Given the description of an element on the screen output the (x, y) to click on. 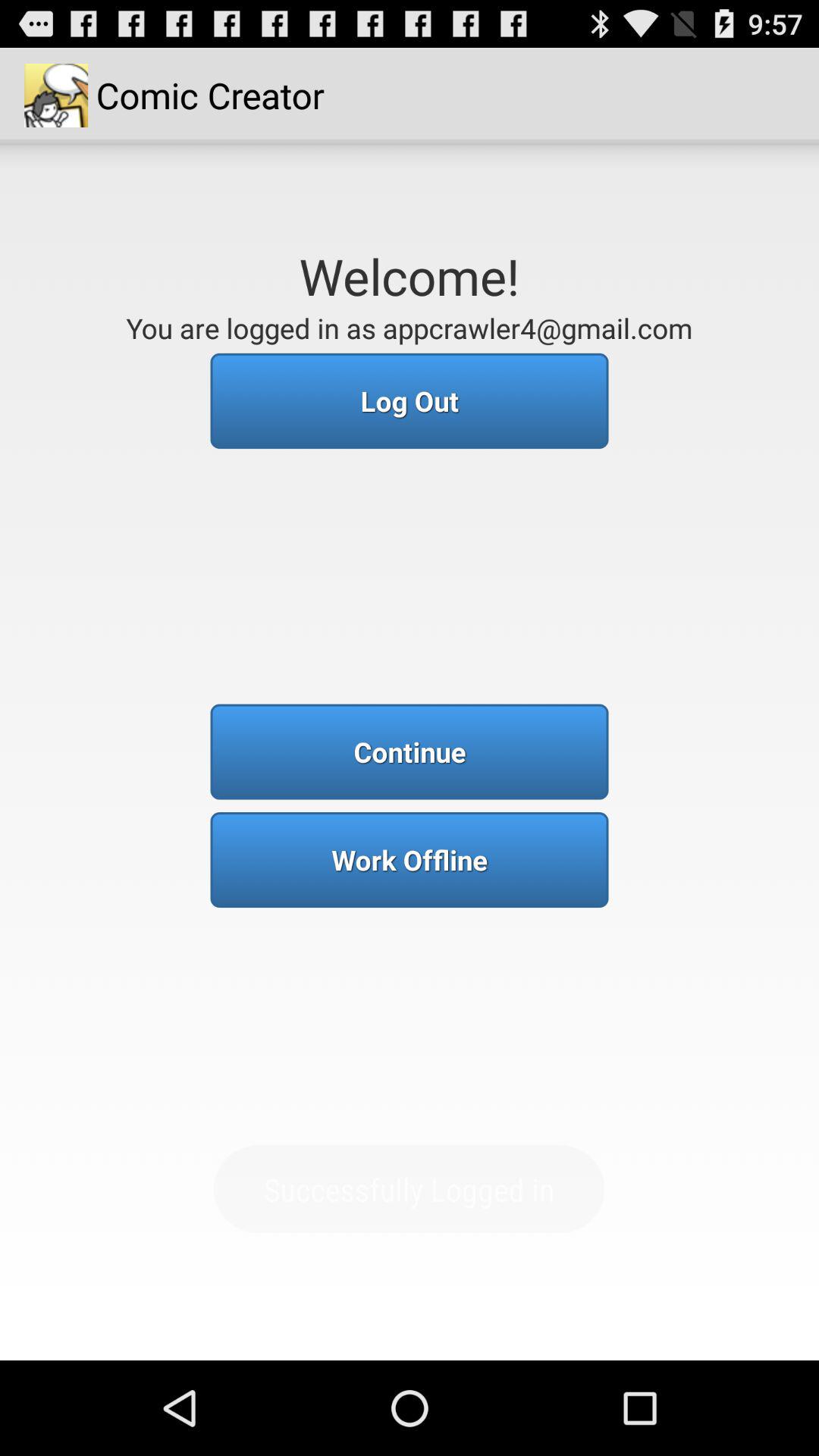
launch item above the work offline item (409, 751)
